Given the description of an element on the screen output the (x, y) to click on. 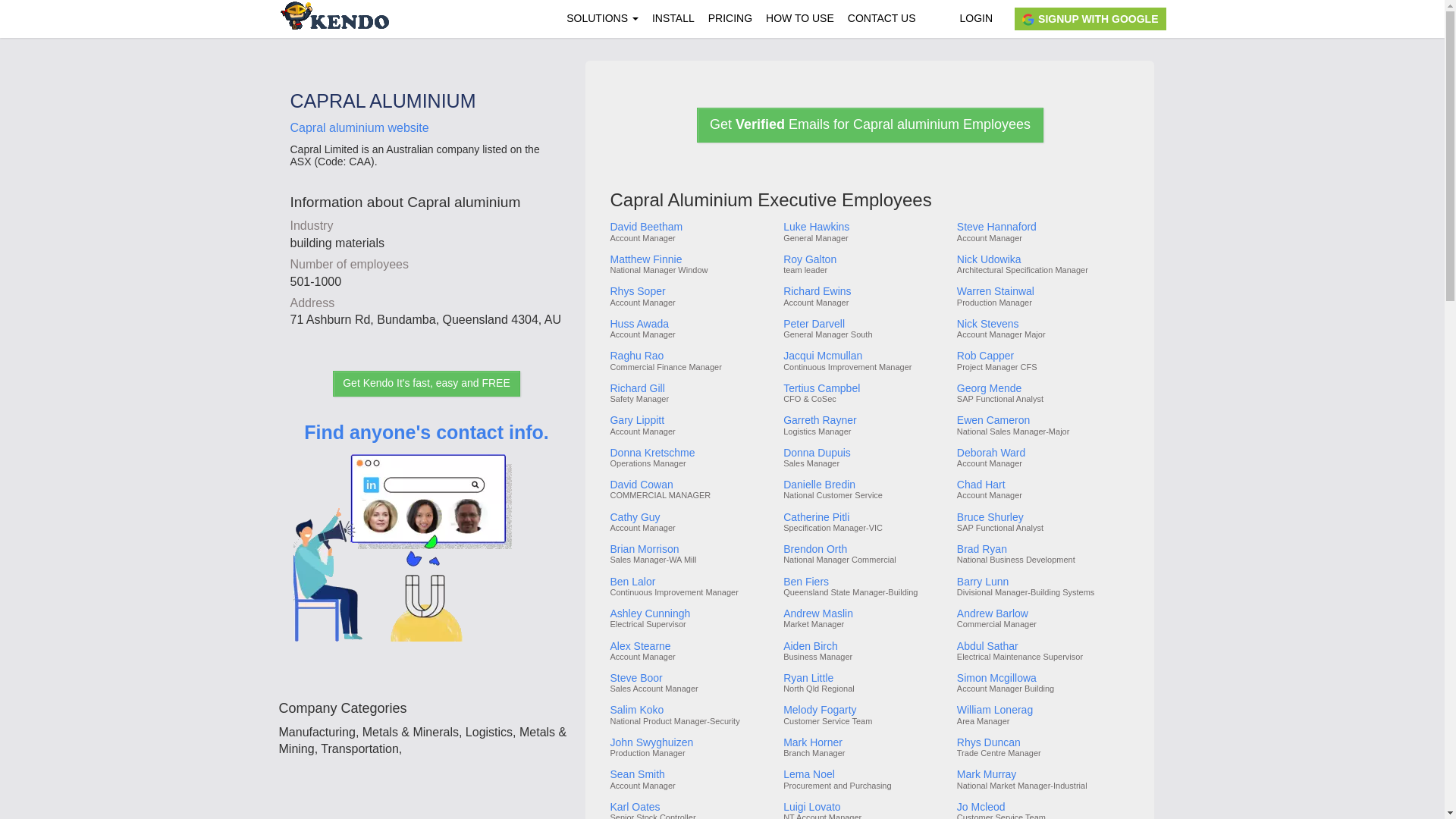
Get Kendo It's fast, easy and FREE (426, 383)
Matthew Finnie (690, 259)
INSTALL (673, 18)
Nick Stevens (1041, 324)
Rhys Soper (690, 291)
Get Verified Emails for Capral aluminium Employees (870, 124)
Huss Awada (690, 324)
Find anyone's contact info. (425, 553)
PRICING (729, 18)
Richard Ewins (863, 291)
